Given the description of an element on the screen output the (x, y) to click on. 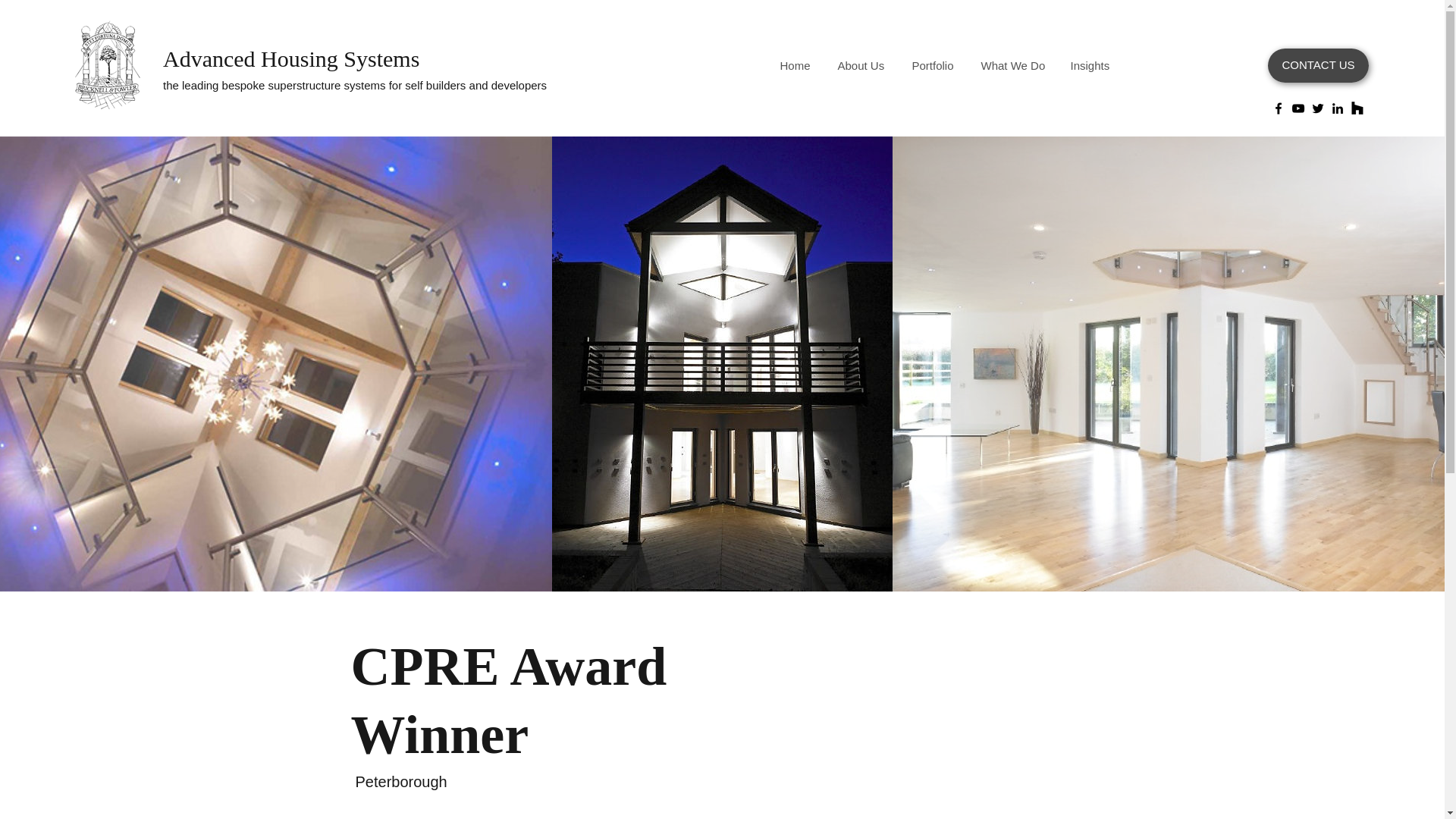
Insights (1089, 58)
About Us (861, 58)
CONTACT US (1318, 65)
Advanced Housing Systems (291, 58)
Home (794, 58)
What We Do (1012, 58)
Portfolio (932, 58)
